Given the description of an element on the screen output the (x, y) to click on. 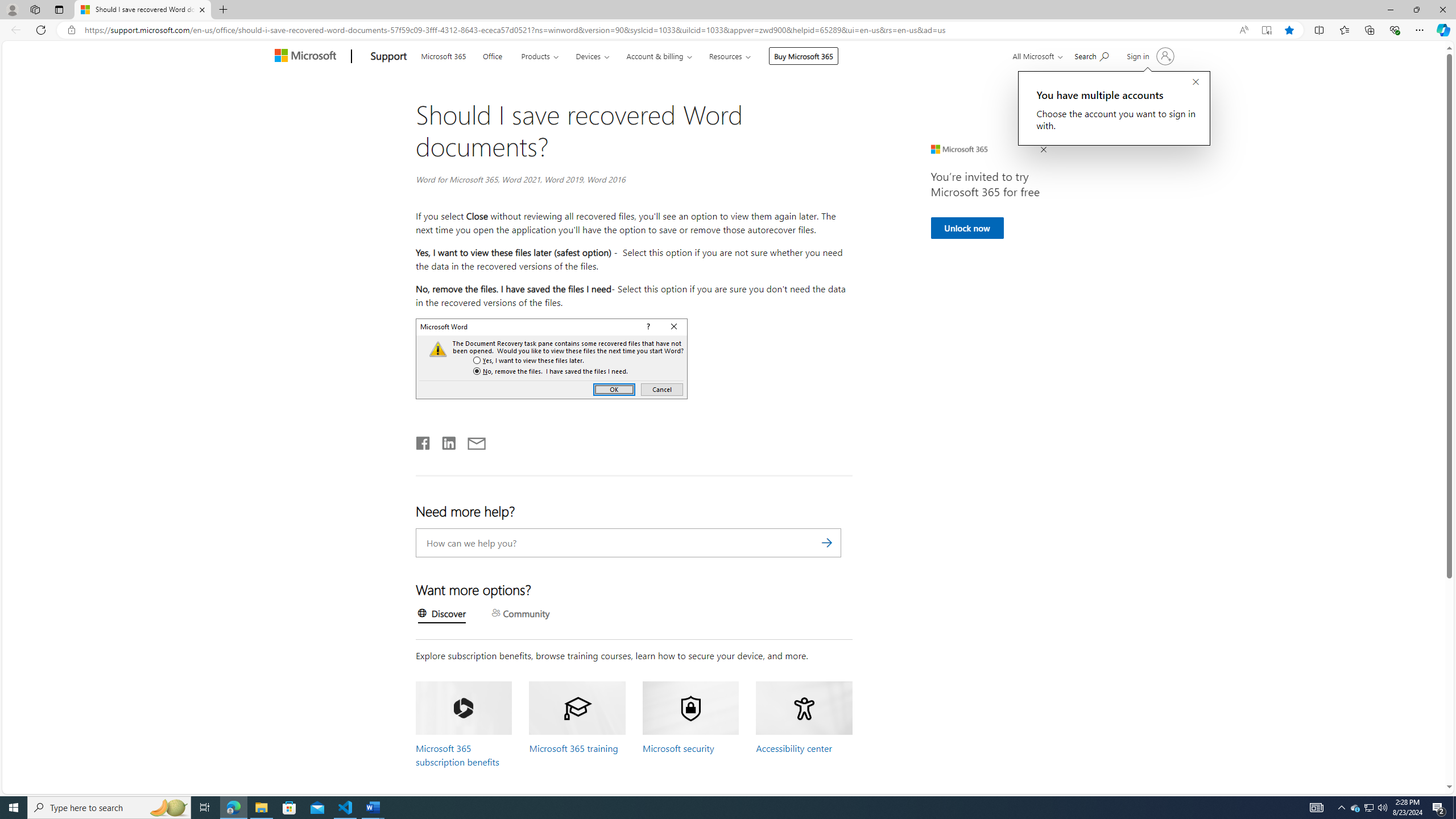
Support (388, 56)
